Given the description of an element on the screen output the (x, y) to click on. 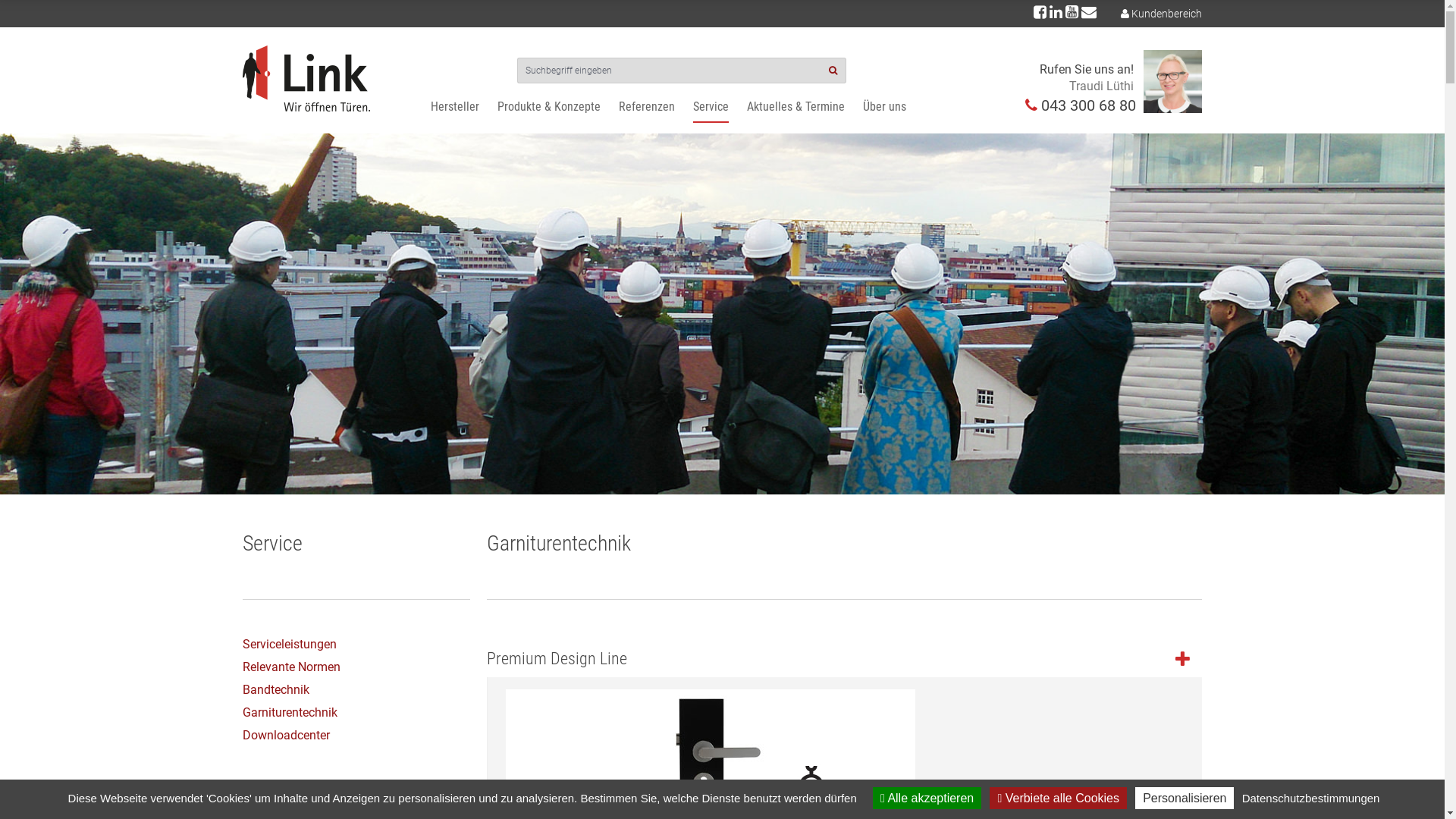
Produkte & Konzepte Element type: text (548, 106)
Alle akzeptieren Element type: text (926, 798)
Service Element type: text (710, 106)
Serviceleistungen Element type: text (289, 644)
Garniturentechnik Element type: text (289, 712)
Verbiete alle Cookies Element type: text (1057, 798)
Downloadcenter Element type: text (285, 735)
Referenzen Element type: text (646, 106)
Aktuelles & Termine Element type: text (795, 106)
043 300 68 80 Element type: text (1088, 105)
Datenschutzbestimmungen Element type: text (1310, 797)
Bandtechnik Element type: text (275, 689)
Kundenbereich Element type: text (1166, 13)
Relevante Normen Element type: text (291, 666)
Personalisieren Element type: text (1184, 798)
Hersteller Element type: text (454, 106)
